Given the description of an element on the screen output the (x, y) to click on. 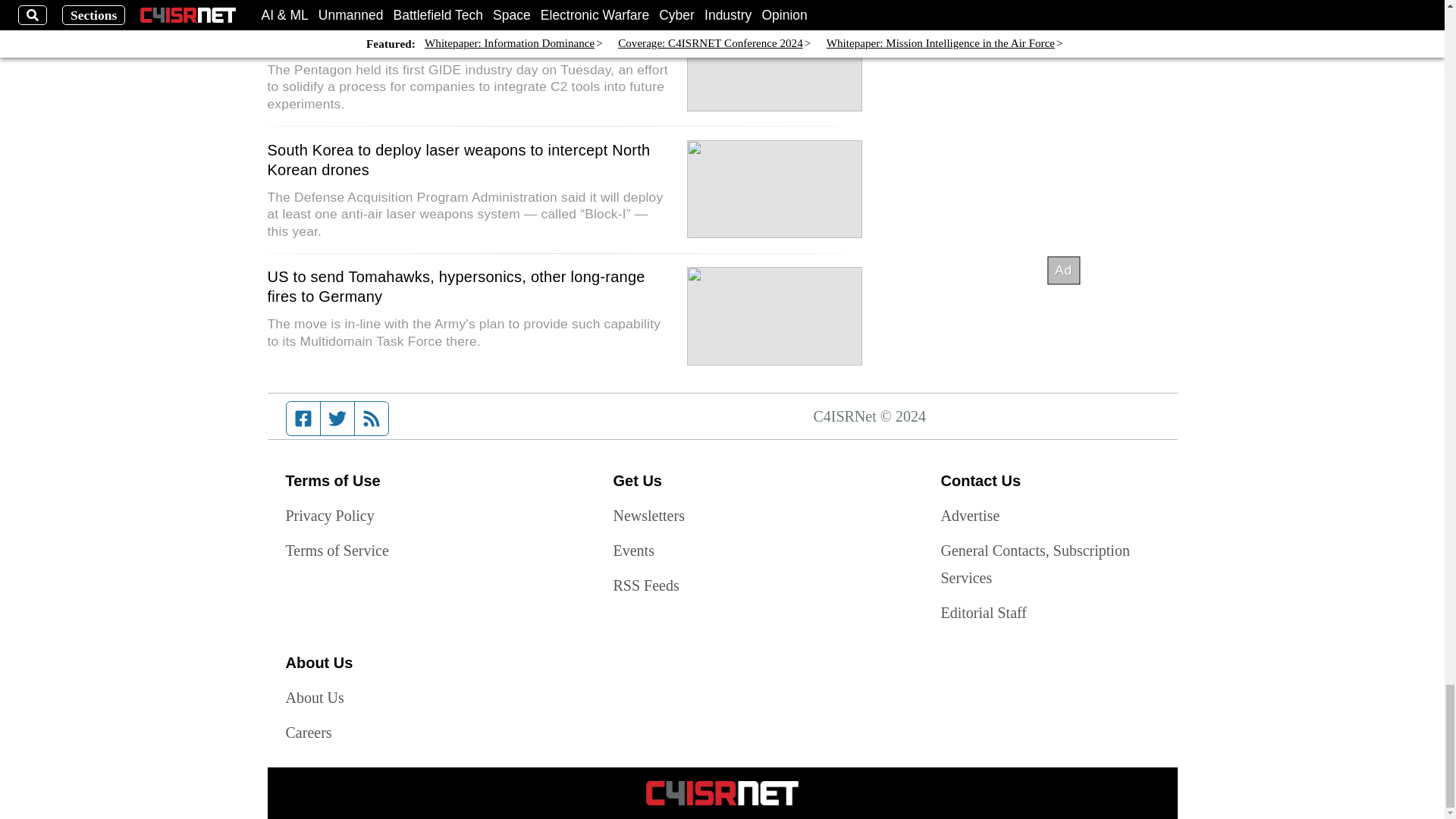
Twitter feed (336, 418)
Facebook page (303, 418)
RSS feed (371, 418)
